Given the description of an element on the screen output the (x, y) to click on. 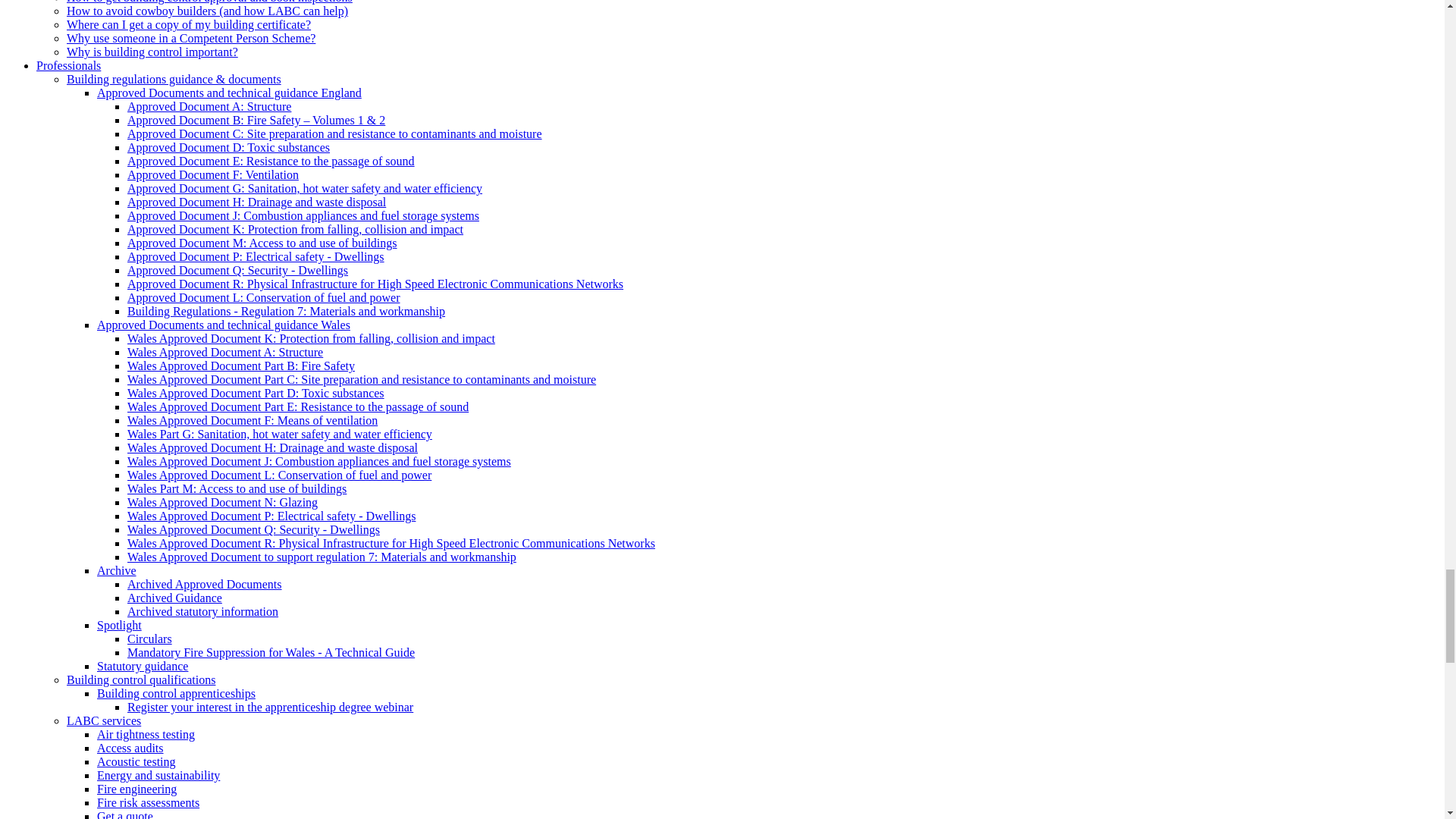
Registered schemes, guidance docs and more... (68, 65)
